Given the description of an element on the screen output the (x, y) to click on. 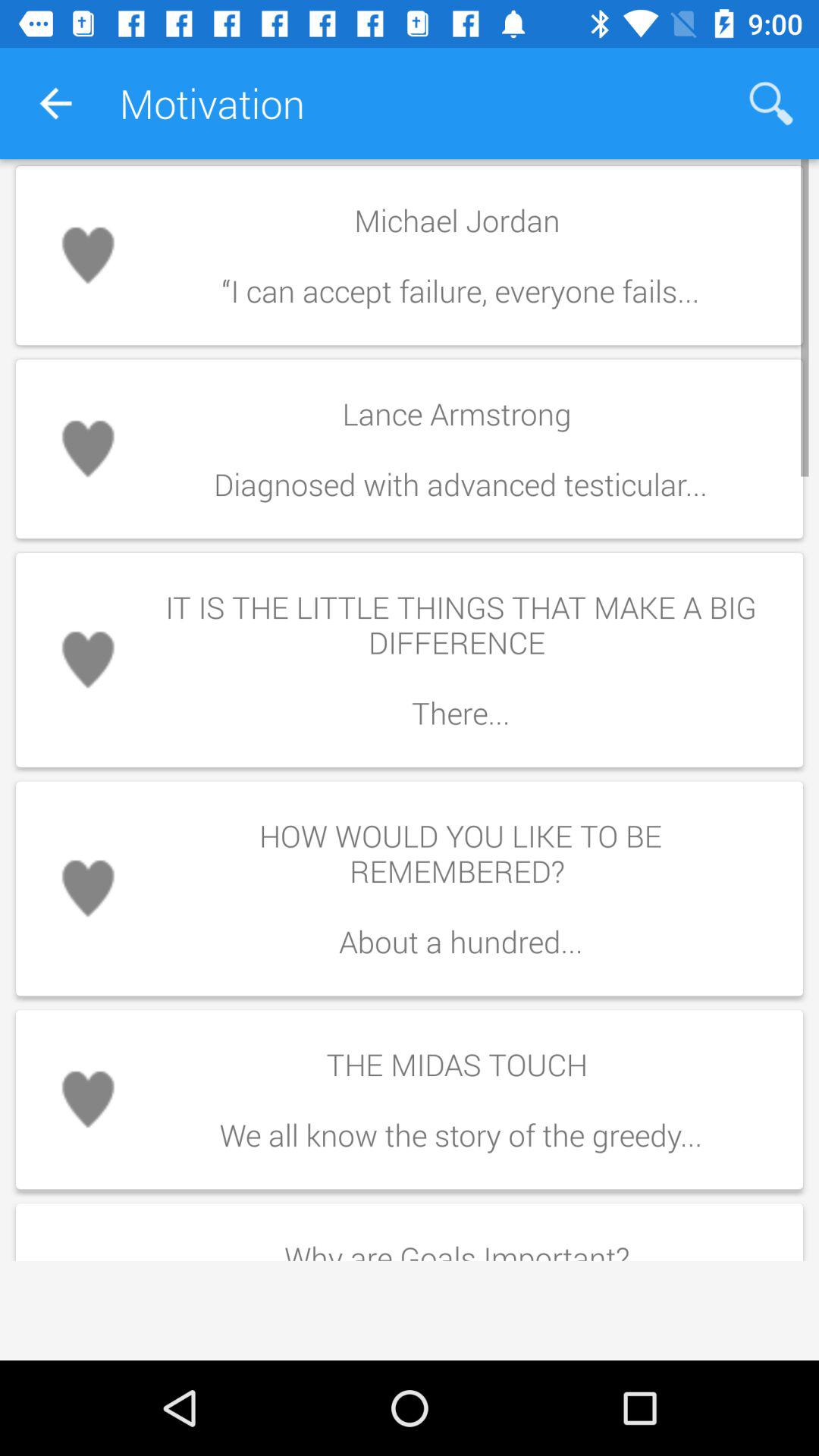
open app to the left of the motivation icon (55, 103)
